Given the description of an element on the screen output the (x, y) to click on. 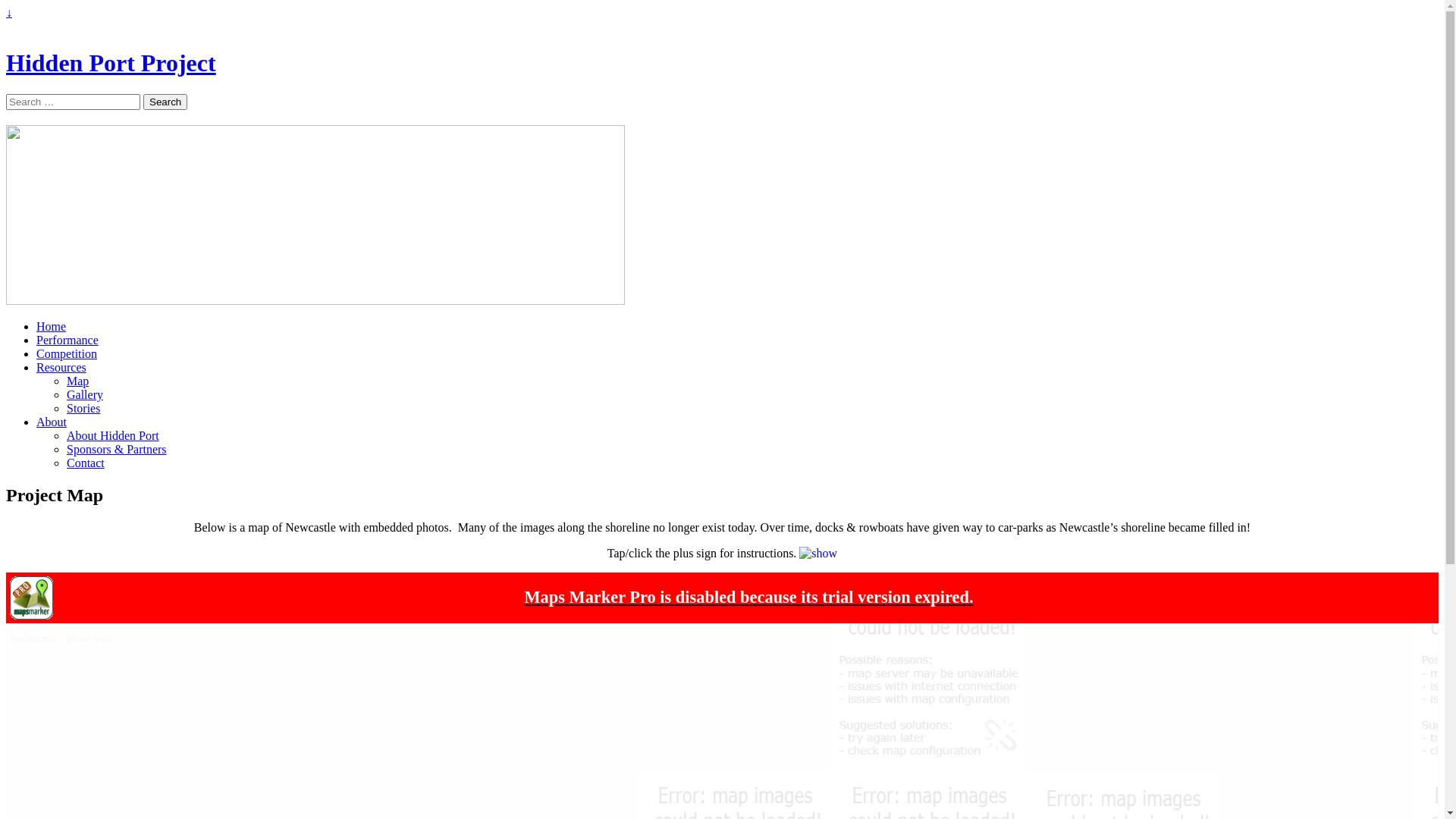
About Hidden Port Element type: text (112, 435)
Resources Element type: text (61, 366)
Maps Marker Pro - #1 mapping plugin for WordPress Element type: hover (31, 614)
Hidden Port Project Element type: text (111, 62)
Competition Element type: text (66, 353)
Map Element type: text (77, 380)
Contact Element type: text (85, 462)
Performance Element type: text (67, 339)
Sponsors & Partners Element type: text (116, 448)
Stories Element type: text (83, 407)
Home Element type: text (50, 326)
About Element type: text (51, 421)
Search Element type: text (165, 101)
Gallery Element type: text (84, 394)
